Given the description of an element on the screen output the (x, y) to click on. 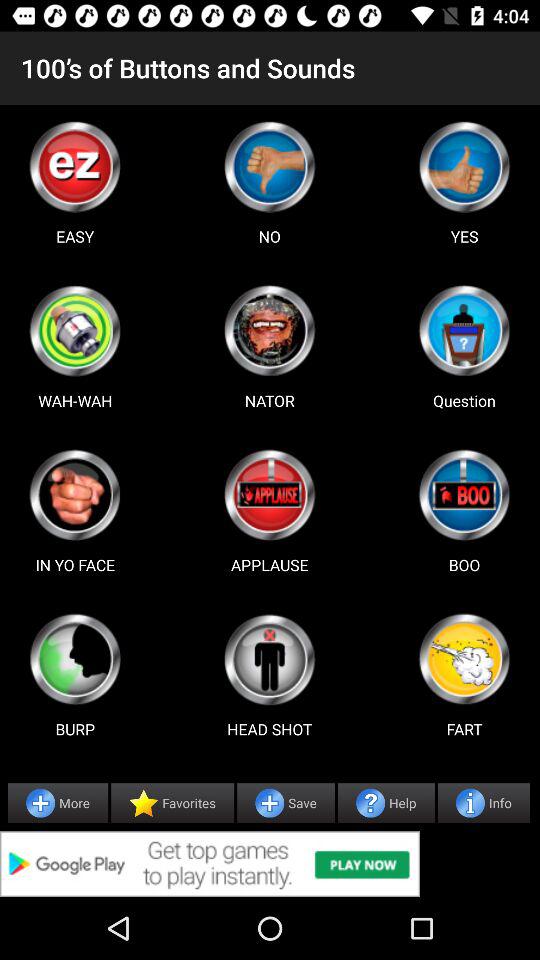
right page (464, 166)
